Given the description of an element on the screen output the (x, y) to click on. 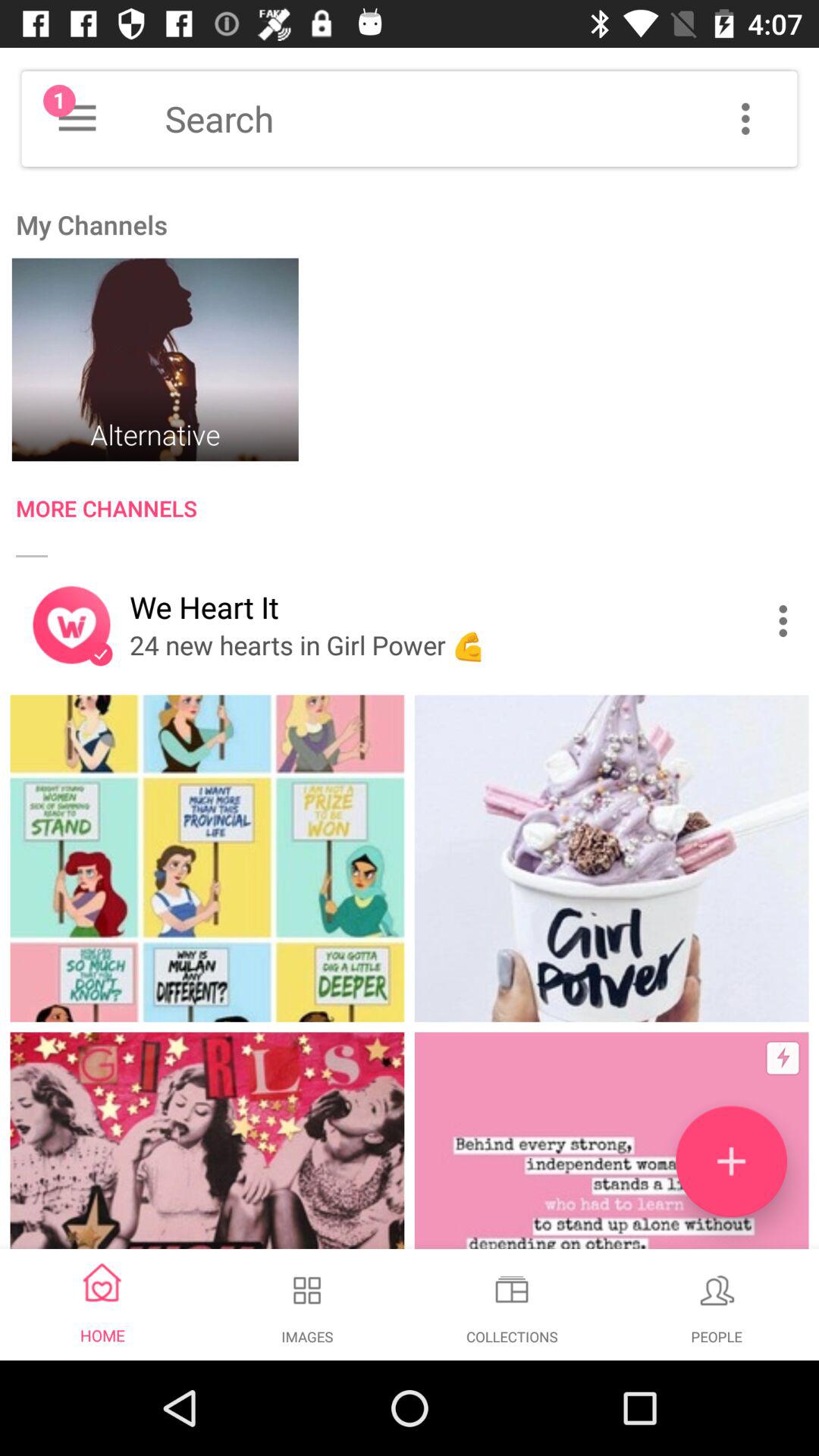
search website (480, 118)
